Given the description of an element on the screen output the (x, y) to click on. 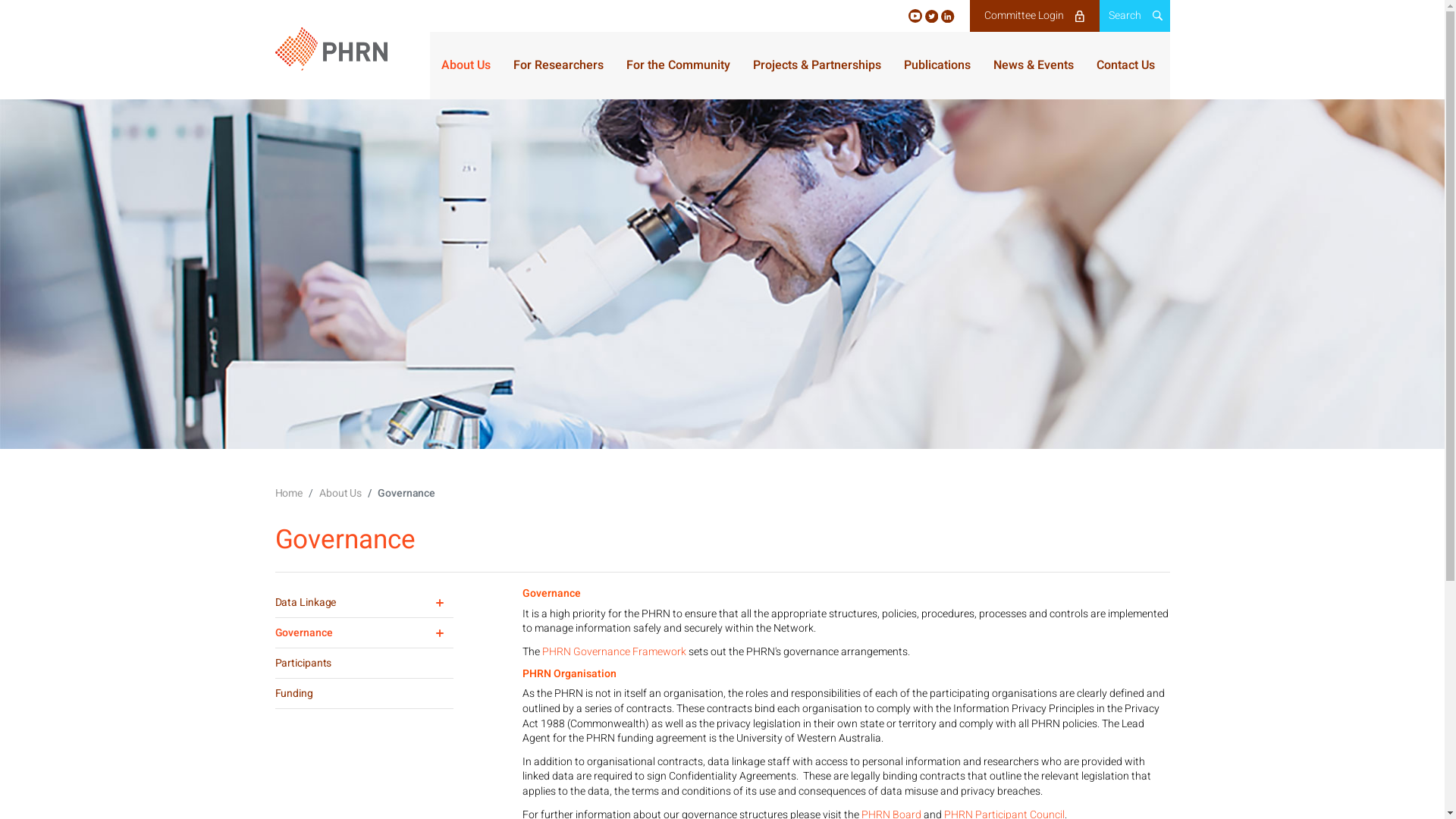
Projects & Partnerships Element type: text (816, 65)
LinkedIn Element type: text (947, 15)
Home Element type: text (288, 493)
Contact Us Element type: text (1125, 65)
About Us Element type: text (465, 65)
Participants Element type: text (363, 662)
Committee Login
Member Element type: text (1034, 15)
PHRN Governance Framework Element type: text (613, 651)
logo Element type: hover (330, 48)
Data Linkage Element type: text (363, 602)
Publications Element type: text (936, 65)
Governance Element type: text (363, 632)
About Us Element type: text (340, 493)
For Researchers Element type: text (557, 65)
For the Community Element type: text (678, 65)
Funding Element type: text (363, 693)
News & Events Element type: text (1033, 65)
Twitter Element type: text (933, 15)
